Given the description of an element on the screen output the (x, y) to click on. 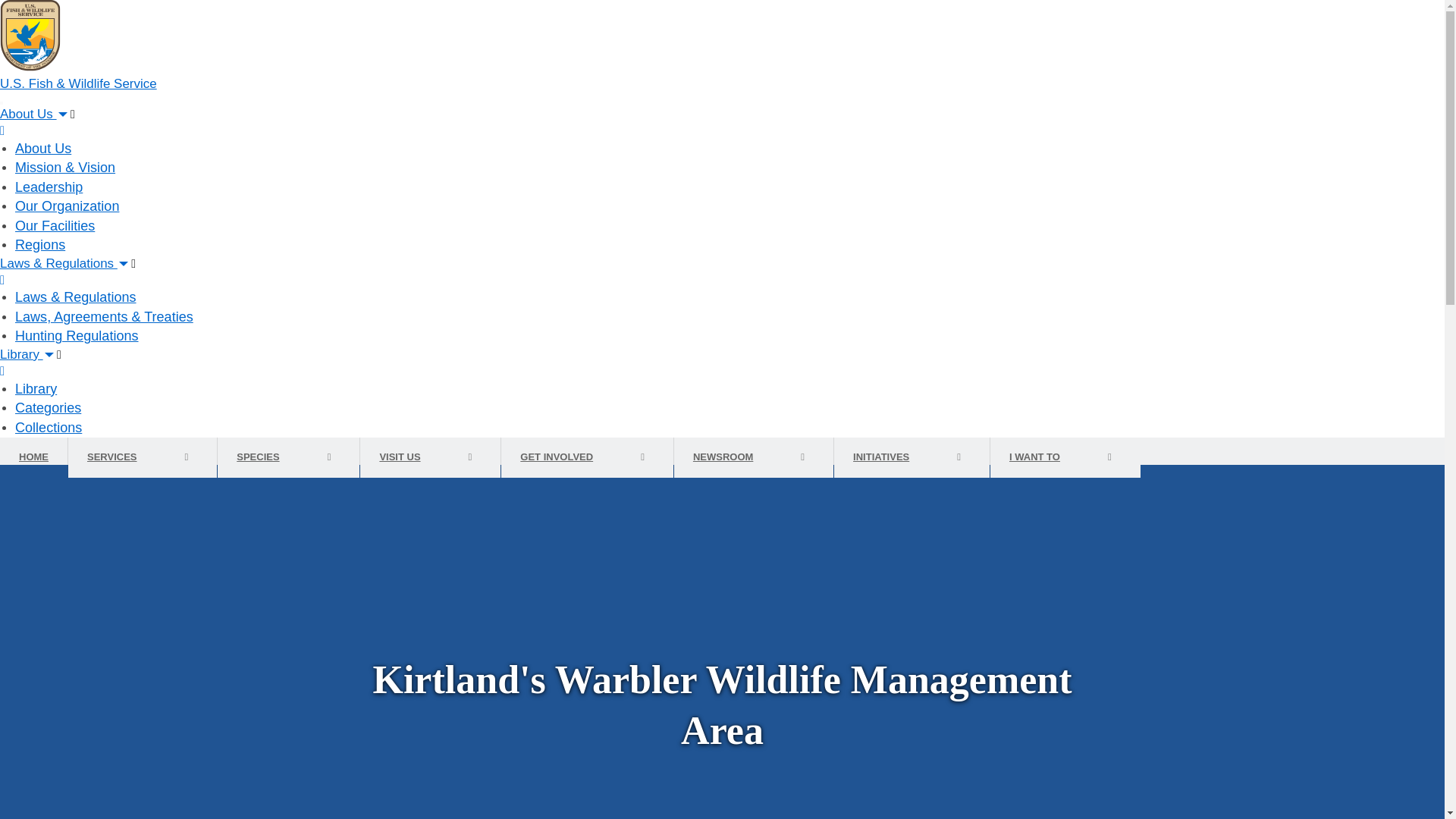
SERVICES (116, 457)
Collections (47, 427)
Categories (47, 407)
Hunting Regulations (76, 335)
About Us (42, 148)
Leadership (48, 186)
Regions (39, 244)
Our Organization (66, 206)
